Given the description of an element on the screen output the (x, y) to click on. 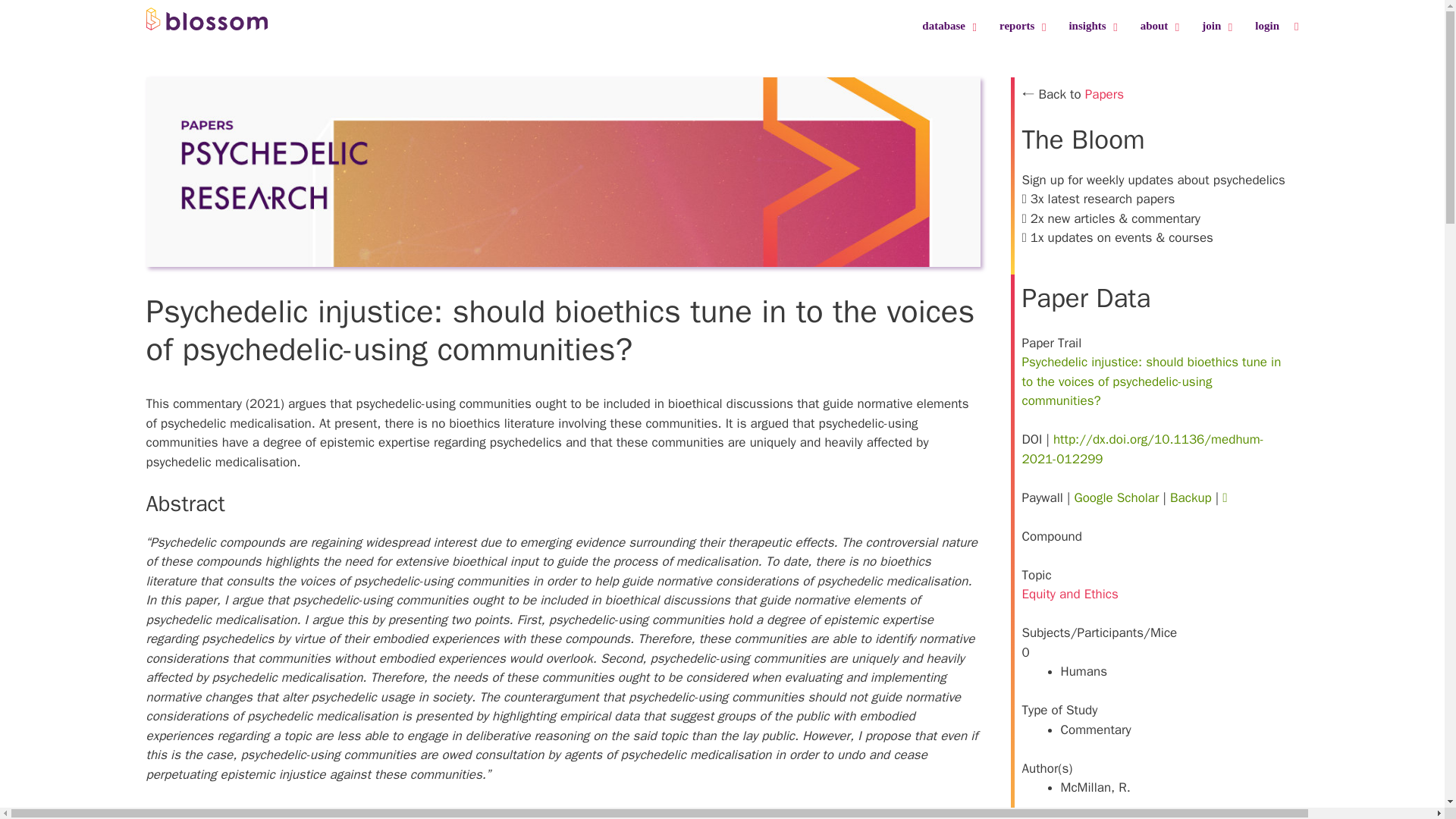
database (1102, 26)
reports (945, 26)
